Given the description of an element on the screen output the (x, y) to click on. 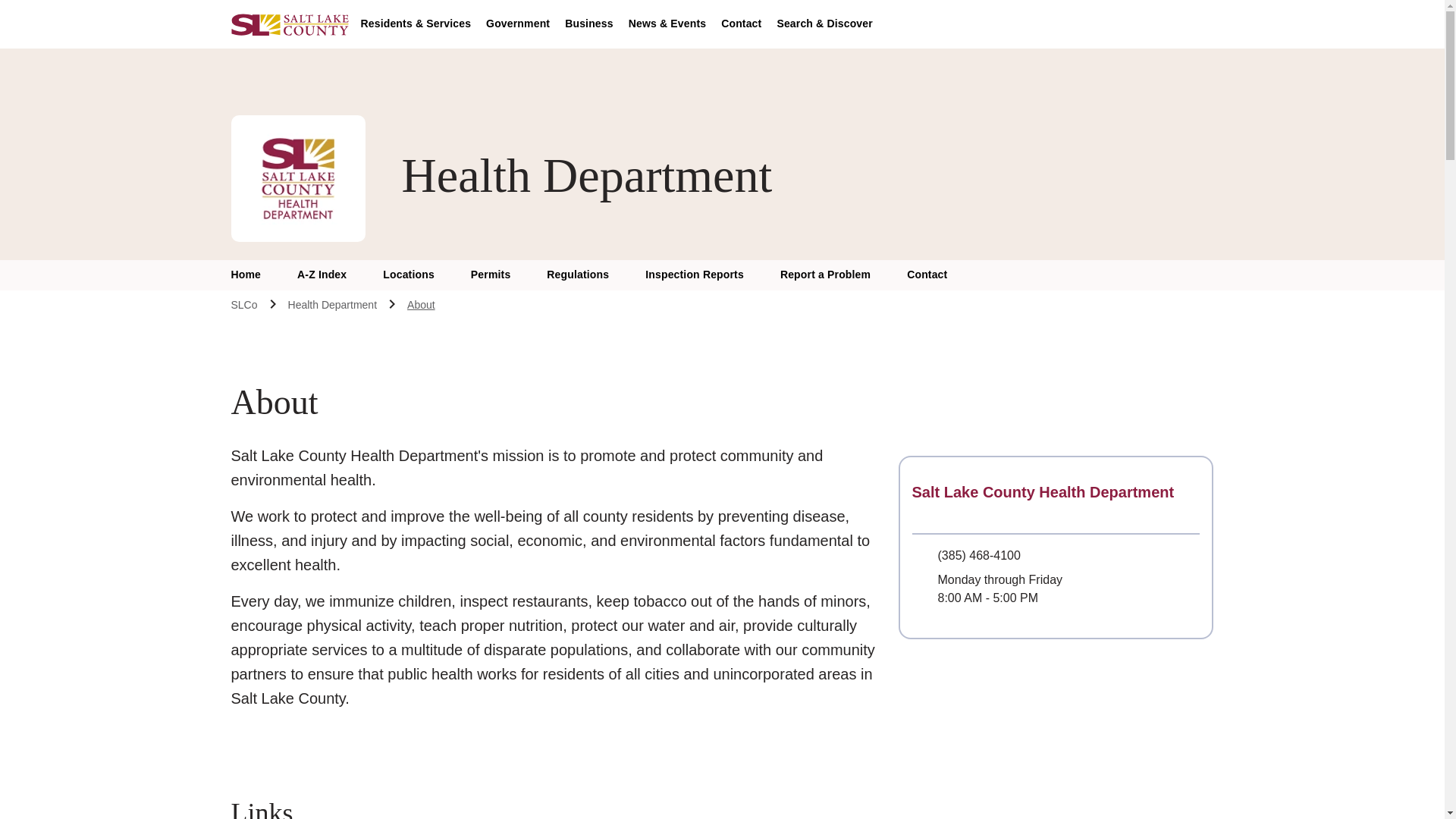
Government (518, 24)
Business (588, 24)
